Given the description of an element on the screen output the (x, y) to click on. 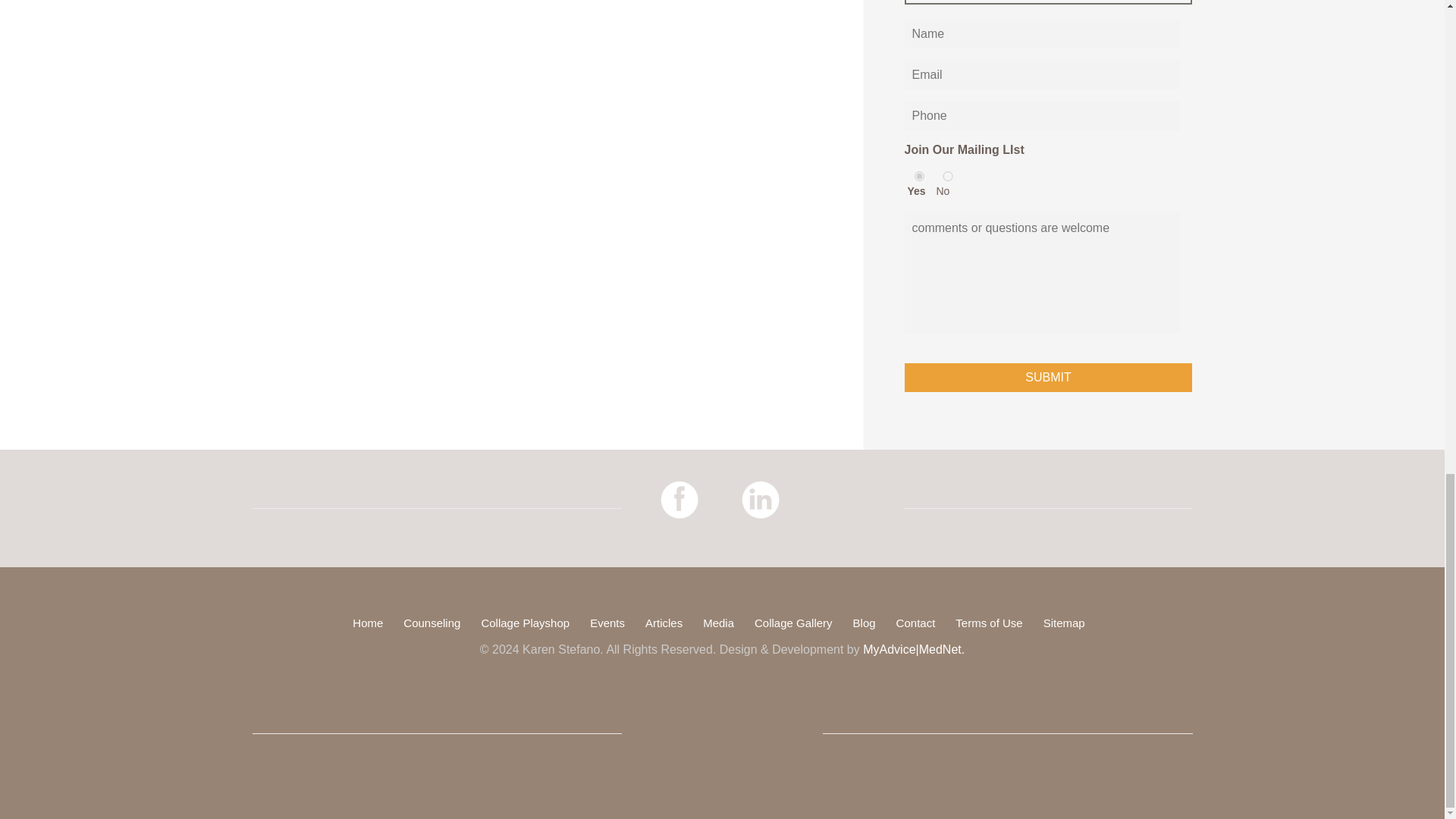
Submit (1048, 377)
Yes (919, 175)
No (947, 175)
